Given the description of an element on the screen output the (x, y) to click on. 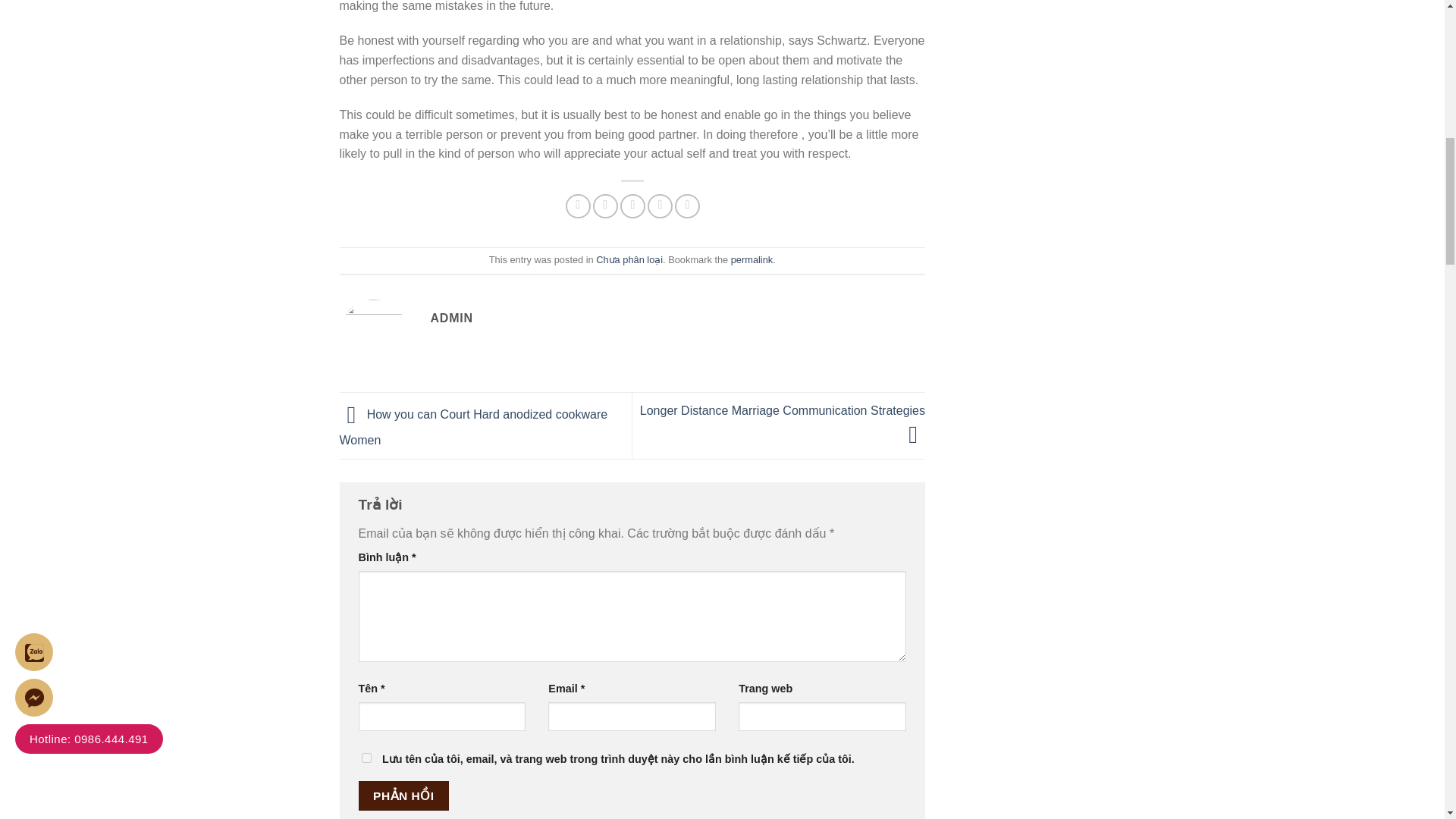
How you can Court Hard anodized cookware Women (473, 427)
Permalink to Where to get Love within a New Relationship (751, 259)
permalink (751, 259)
yes (366, 757)
Longer Distance Marriage Communication Strategies (782, 422)
